Given the description of an element on the screen output the (x, y) to click on. 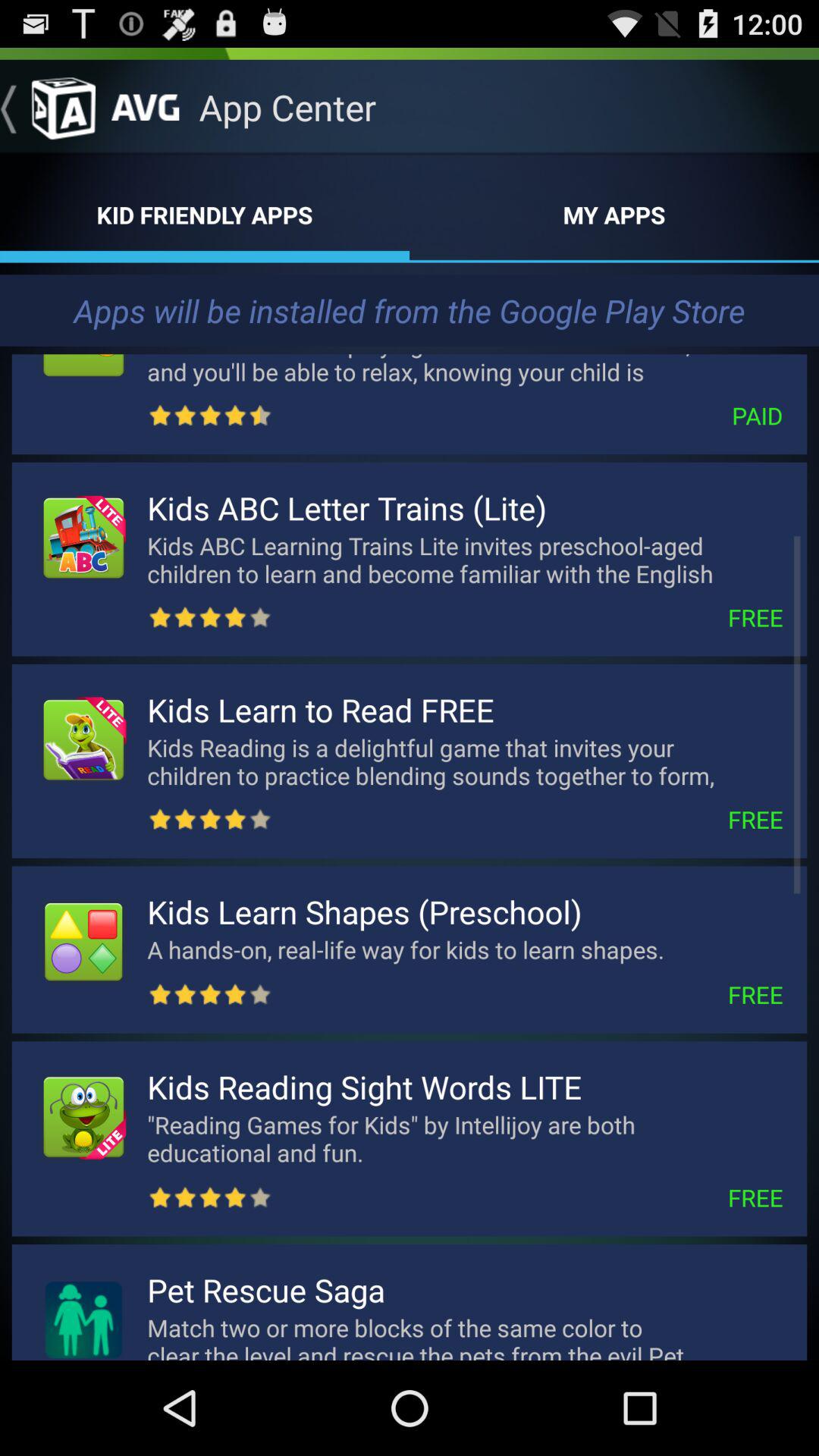
choose reading games for item (465, 1138)
